Given the description of an element on the screen output the (x, y) to click on. 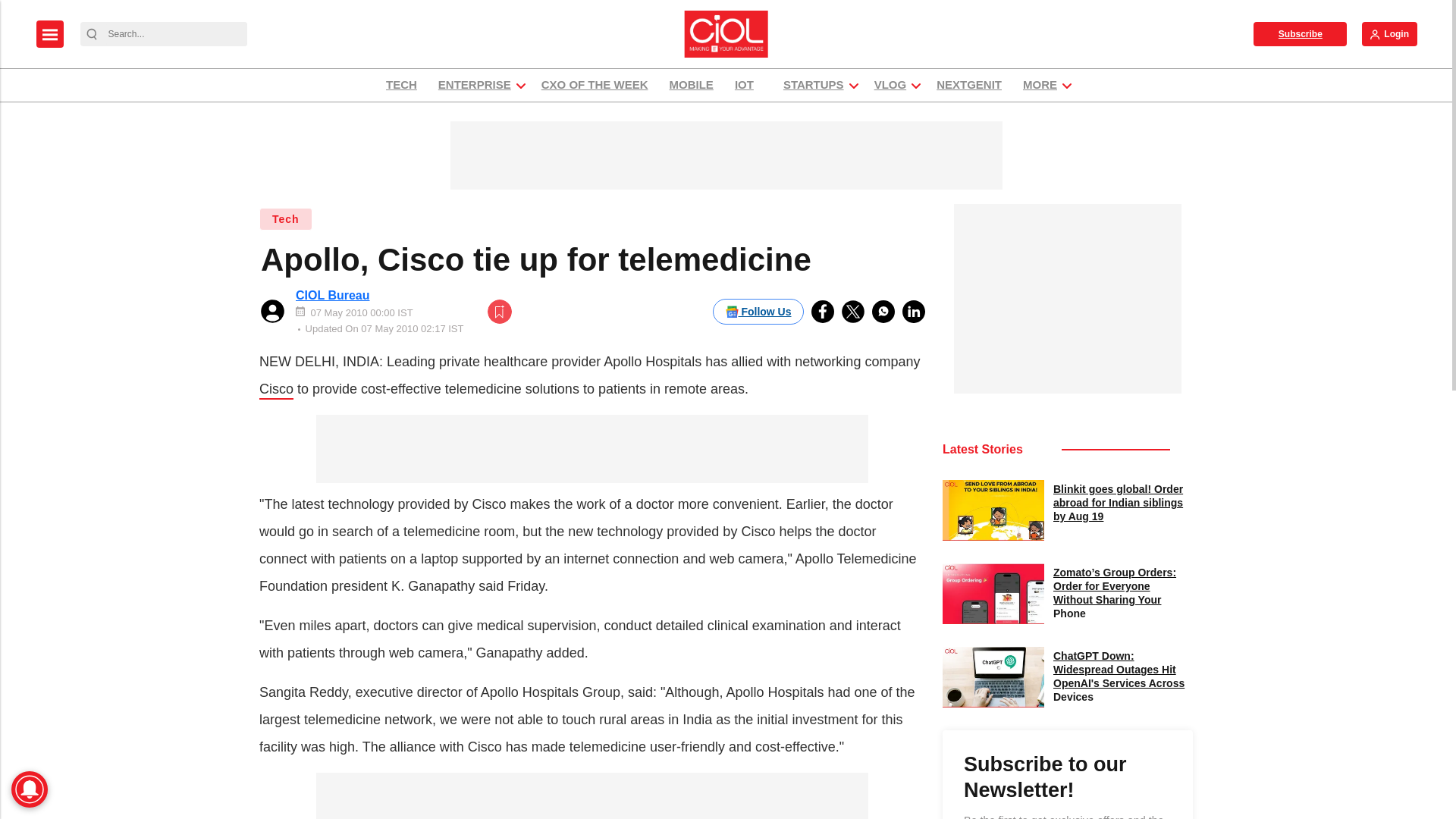
NEXTGENIT (969, 84)
Login (1388, 33)
Subscribe (1299, 33)
MORE (1039, 84)
STARTUPS (812, 84)
VLOG (890, 84)
MOBILE (691, 84)
IOT (748, 84)
TECH (401, 84)
CXO OF THE WEEK (594, 84)
